Given the description of an element on the screen output the (x, y) to click on. 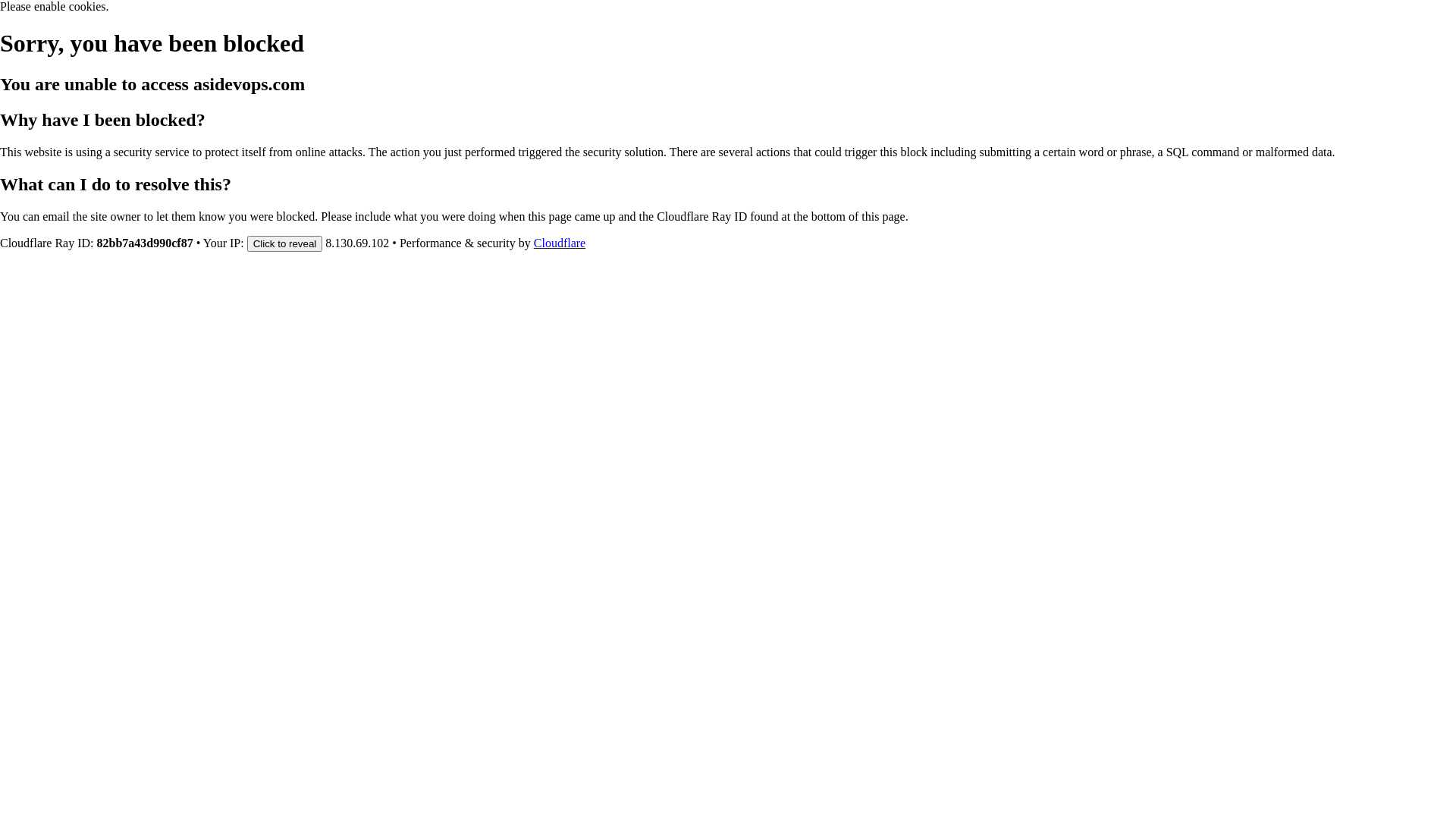
Click to reveal Element type: text (285, 243)
Cloudflare Element type: text (559, 242)
